Given the description of an element on the screen output the (x, y) to click on. 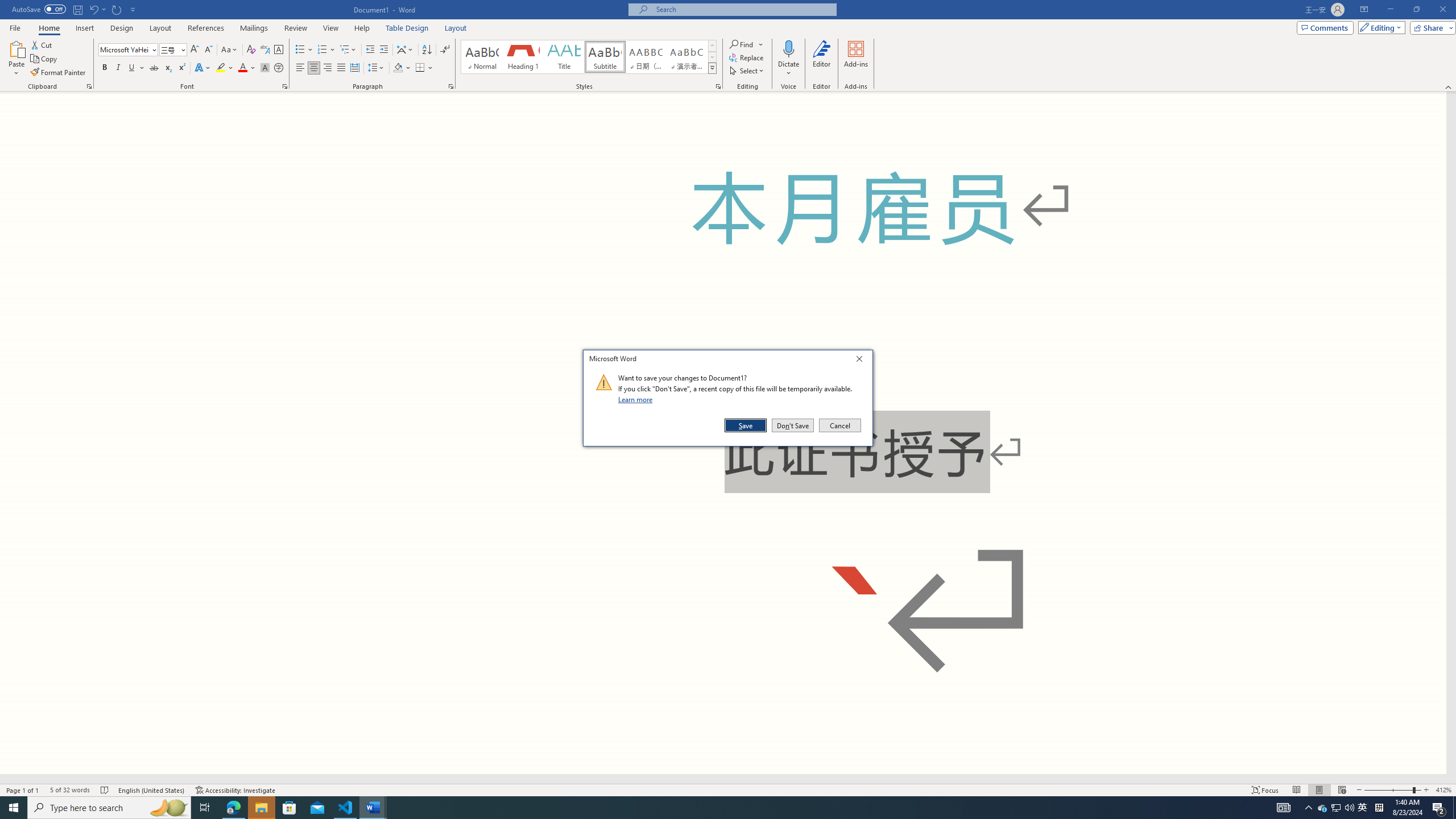
Share (1430, 27)
Zoom Out (1388, 790)
Text Highlight Color Yellow (220, 67)
Character Border (278, 49)
Notification Chevron (1308, 807)
Grow Font (193, 49)
Show/Hide Editing Marks (444, 49)
User Promoted Notification Area (1336, 807)
Don't Save (792, 425)
Line and Paragraph Spacing (376, 67)
References (205, 28)
Character Shading (264, 67)
